Given the description of an element on the screen output the (x, y) to click on. 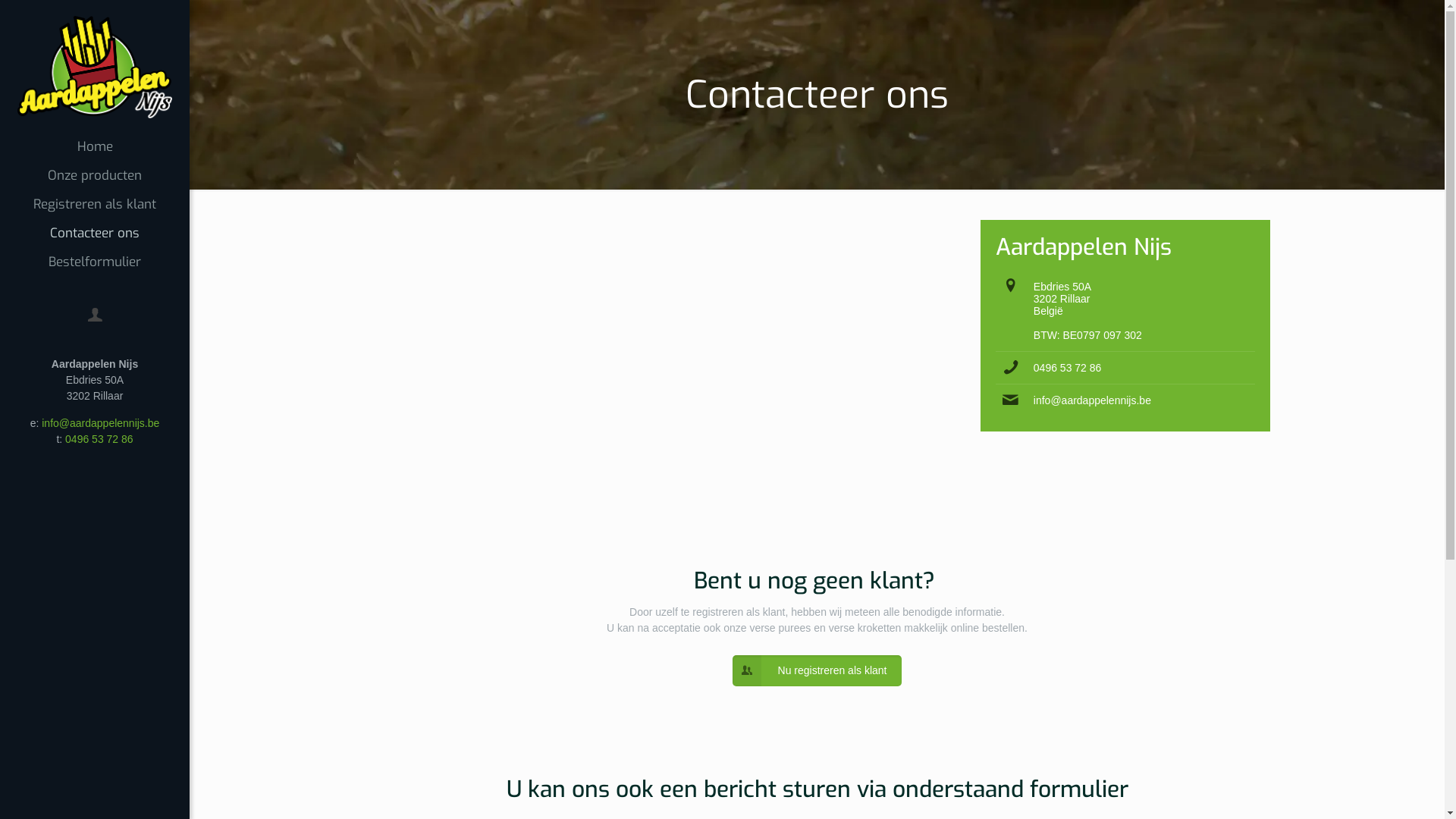
Onze producten Element type: text (94, 175)
info@aardappelennijs.be Element type: text (100, 423)
Aardappelen Nijs Element type: hover (94, 66)
Contacteer ons Element type: text (94, 233)
info@aardappelennijs.be Element type: text (1092, 400)
Registreren als klant Element type: text (94, 204)
0496 53 72 86 Element type: text (99, 439)
Nu registreren als klant Element type: text (817, 670)
0496 53 72 86 Element type: text (1067, 367)
Bestelformulier Element type: text (94, 261)
Home Element type: text (94, 146)
